Given the description of an element on the screen output the (x, y) to click on. 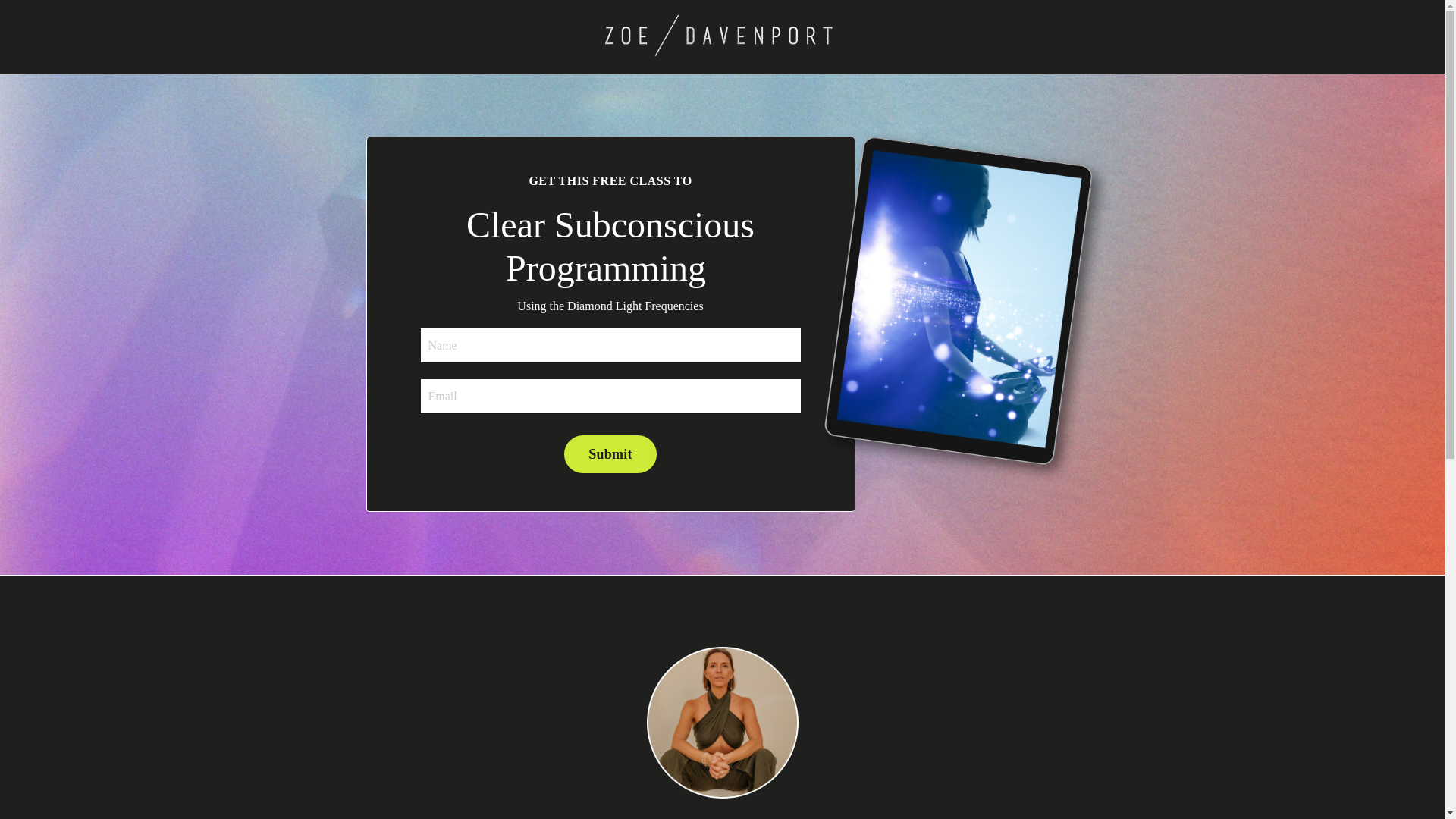
Submit (610, 453)
